Given the description of an element on the screen output the (x, y) to click on. 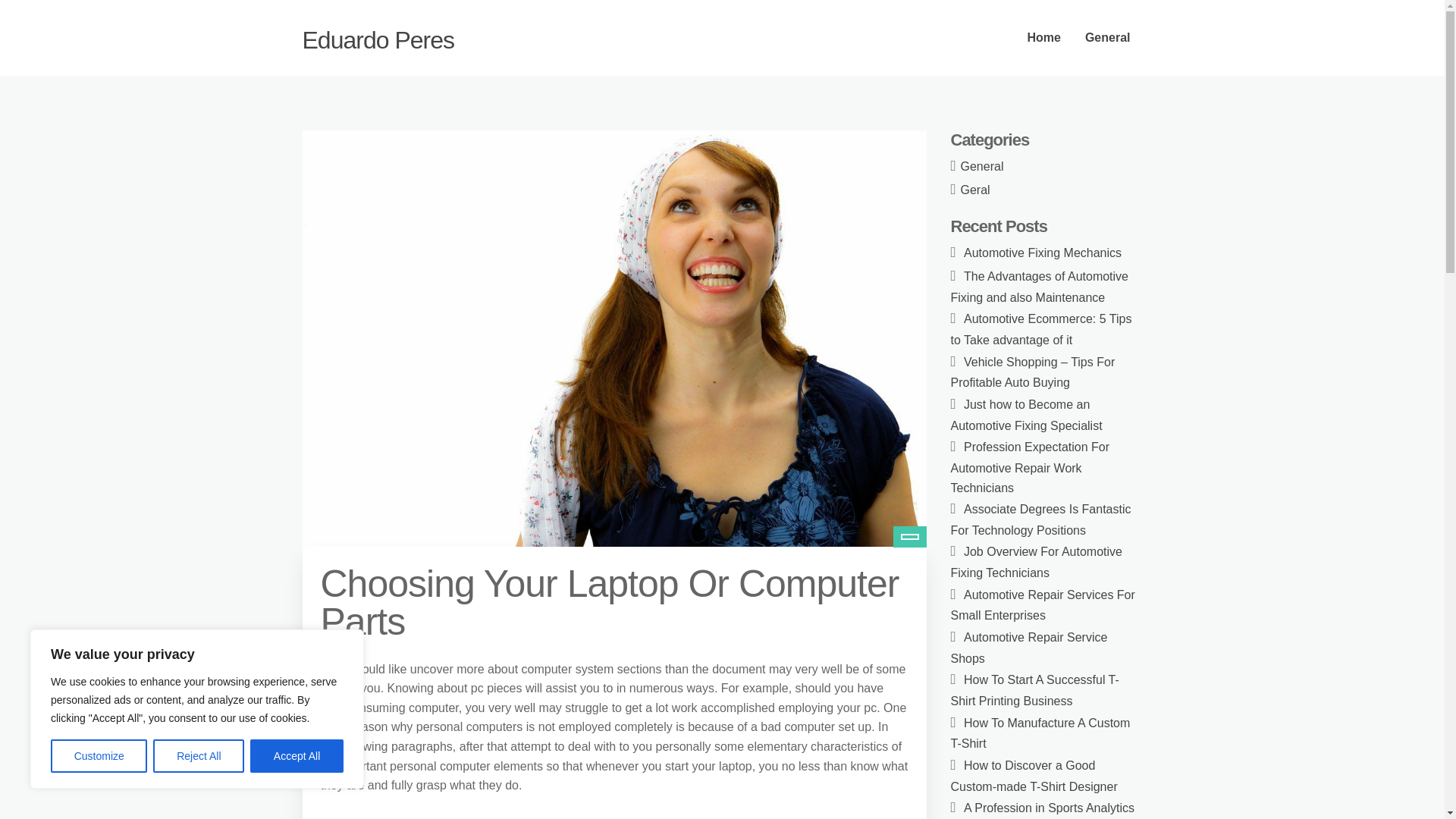
Automotive Ecommerce: 5 Tips to Take advantage of it (1041, 329)
Accept All (296, 756)
The Advantages of Automotive Fixing and also Maintenance (1039, 286)
Customize (98, 756)
Eduardo Peres (376, 39)
General (982, 165)
Home (1042, 37)
Automotive Fixing Mechanics (1042, 252)
Reject All (198, 756)
General (1107, 37)
Geral (975, 189)
